Given the description of an element on the screen output the (x, y) to click on. 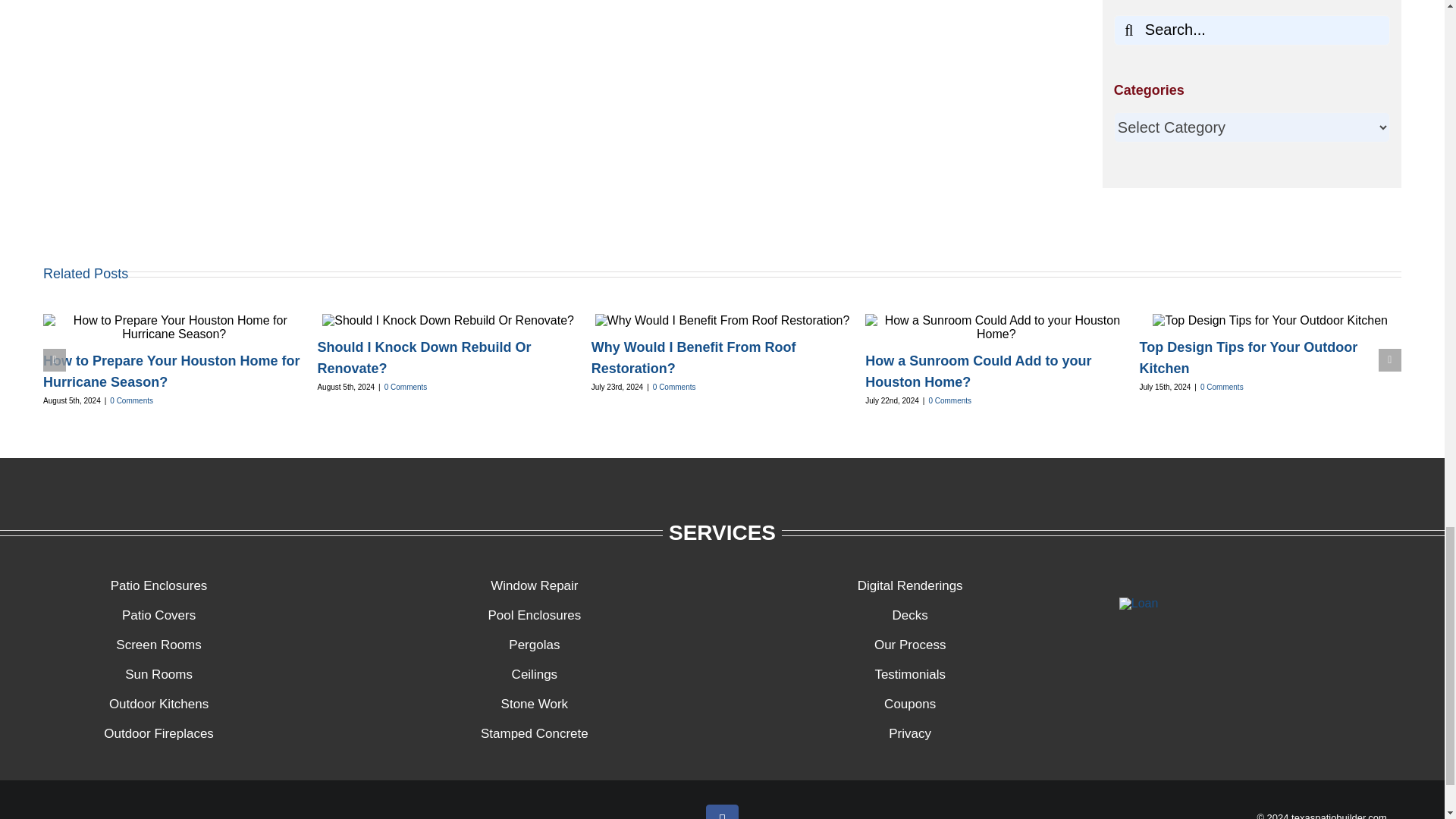
How a Sunroom Could Add to your Houston Home? (977, 370)
Top Design Tips for Your Outdoor Kitchen (1249, 357)
Facebook (722, 811)
Why Would I Benefit From Roof Restoration? (693, 357)
How to Prepare Your Houston Home for Hurricane Season? (171, 370)
How to Prepare Your Houston Home for Hurricane Season? (171, 370)
Should I Knock Down Rebuild Or Renovate? (424, 357)
